Given the description of an element on the screen output the (x, y) to click on. 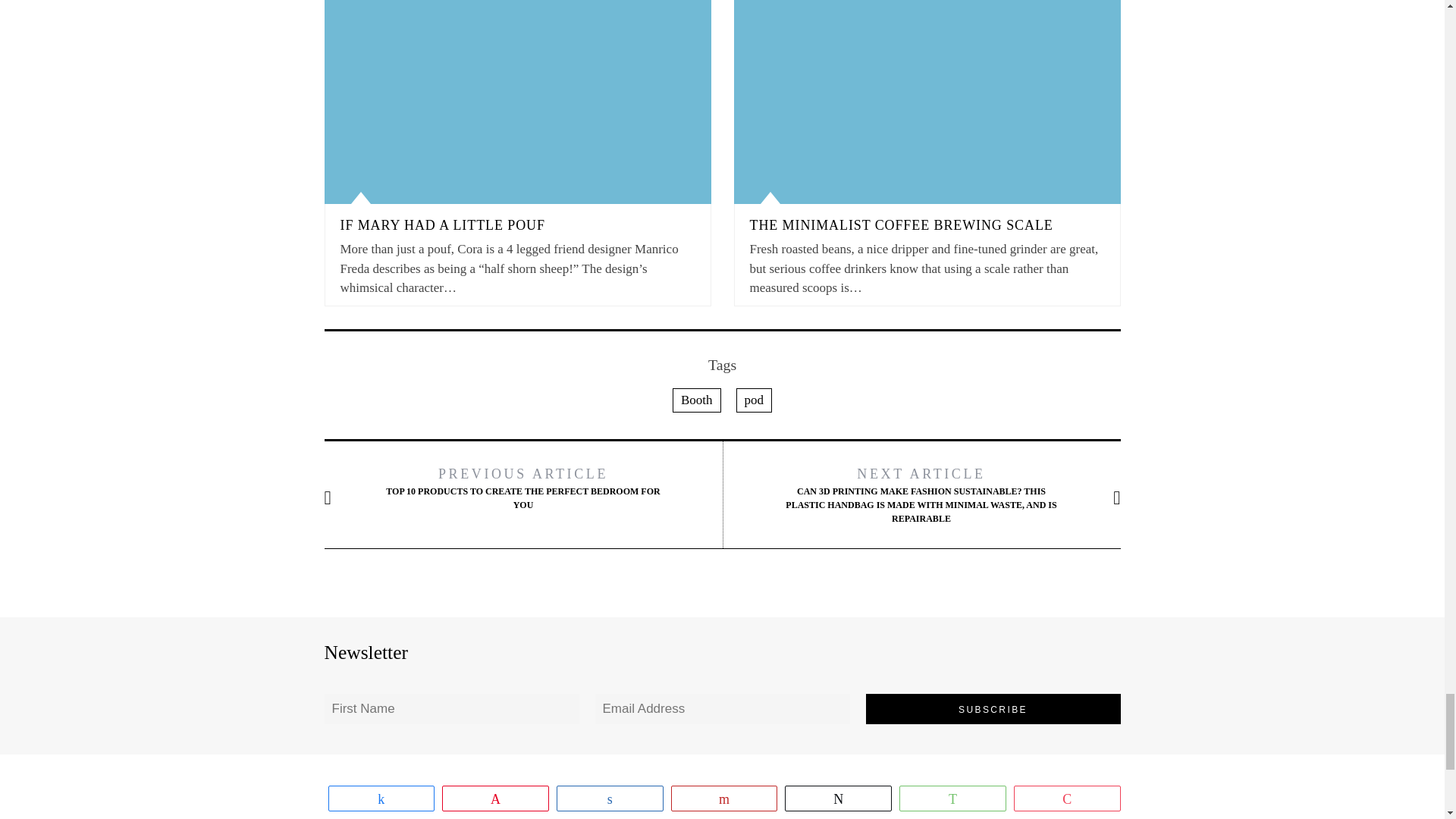
Subscribe (993, 708)
